Given the description of an element on the screen output the (x, y) to click on. 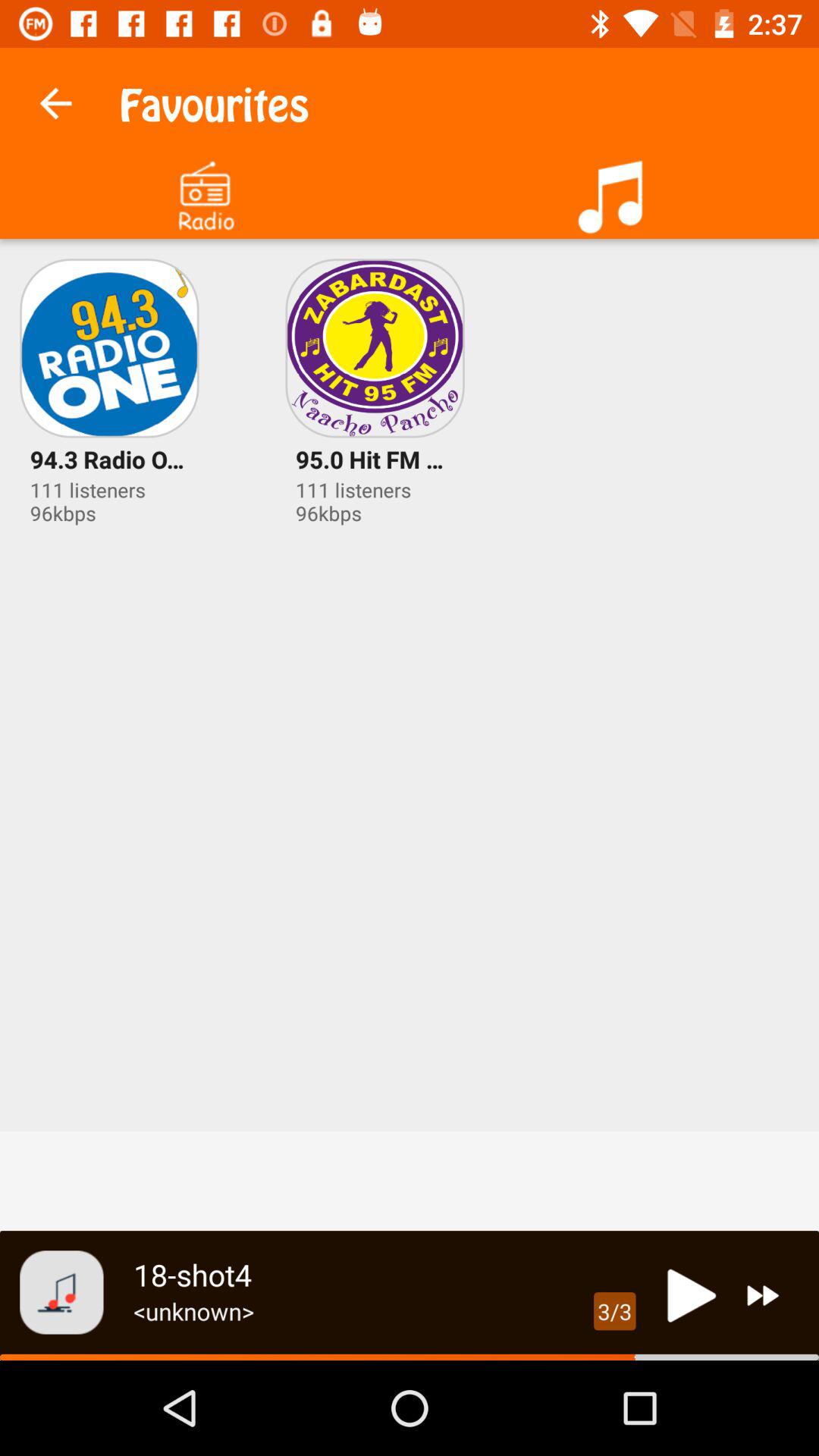
fast forward (763, 1295)
